Given the description of an element on the screen output the (x, y) to click on. 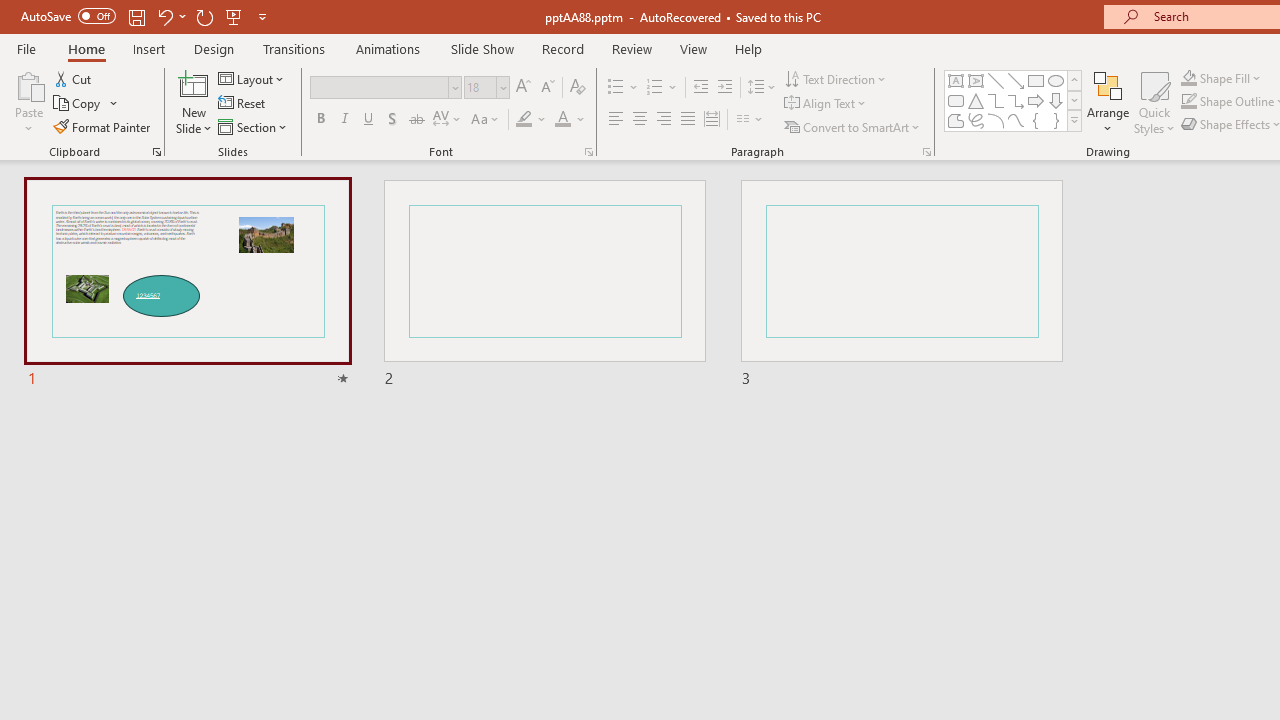
Increase Indent (725, 87)
Slide (901, 284)
Change Case (486, 119)
Shape Fill Aqua, Accent 2 (1188, 78)
Numbering (654, 87)
Paste (28, 102)
Left Brace (1035, 120)
Quick Styles (1154, 102)
Isosceles Triangle (975, 100)
Paragraph... (926, 151)
Decrease Font Size (547, 87)
Open (502, 87)
